Given the description of an element on the screen output the (x, y) to click on. 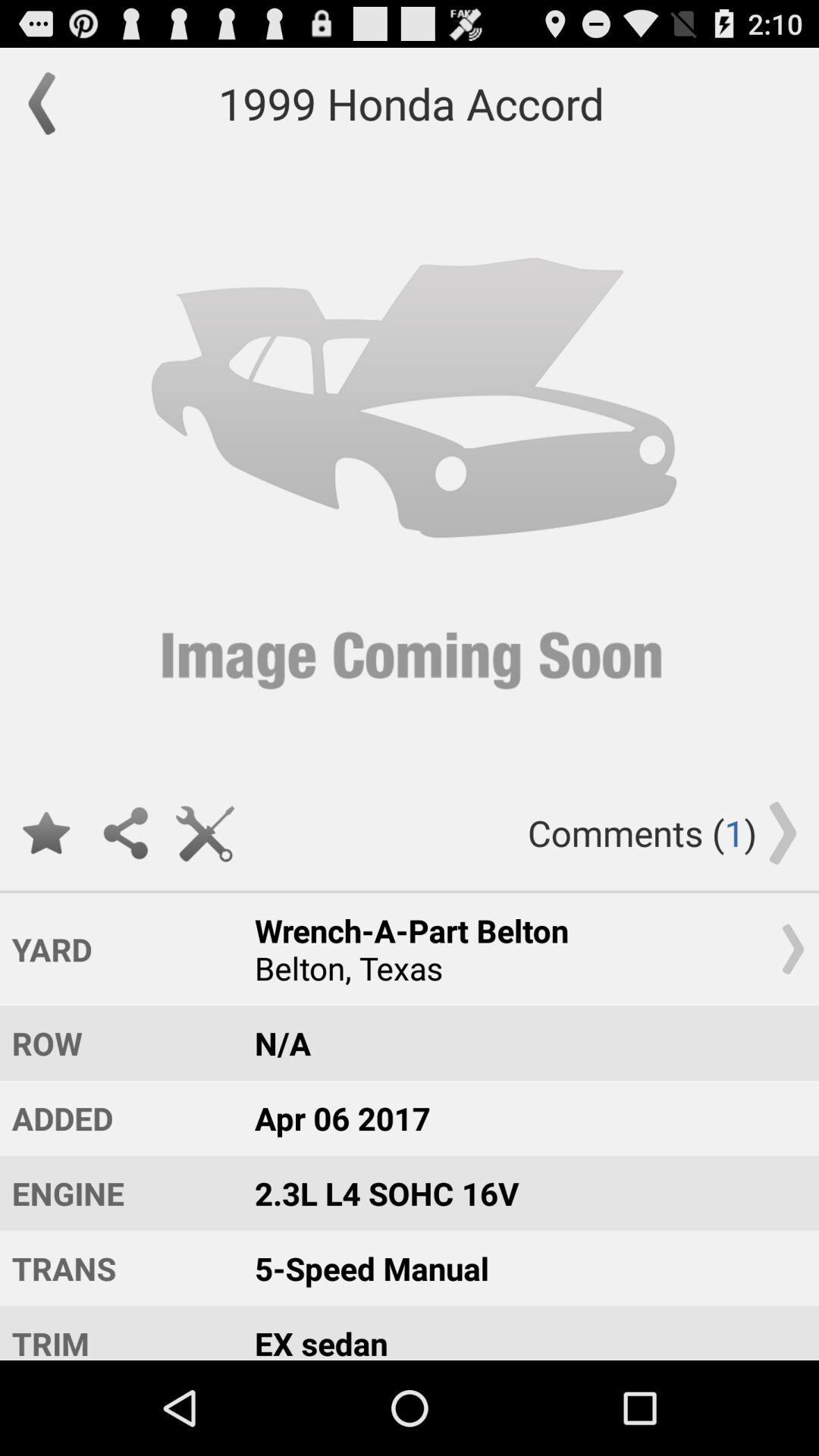
press icon next to the trans app (522, 1332)
